Given the description of an element on the screen output the (x, y) to click on. 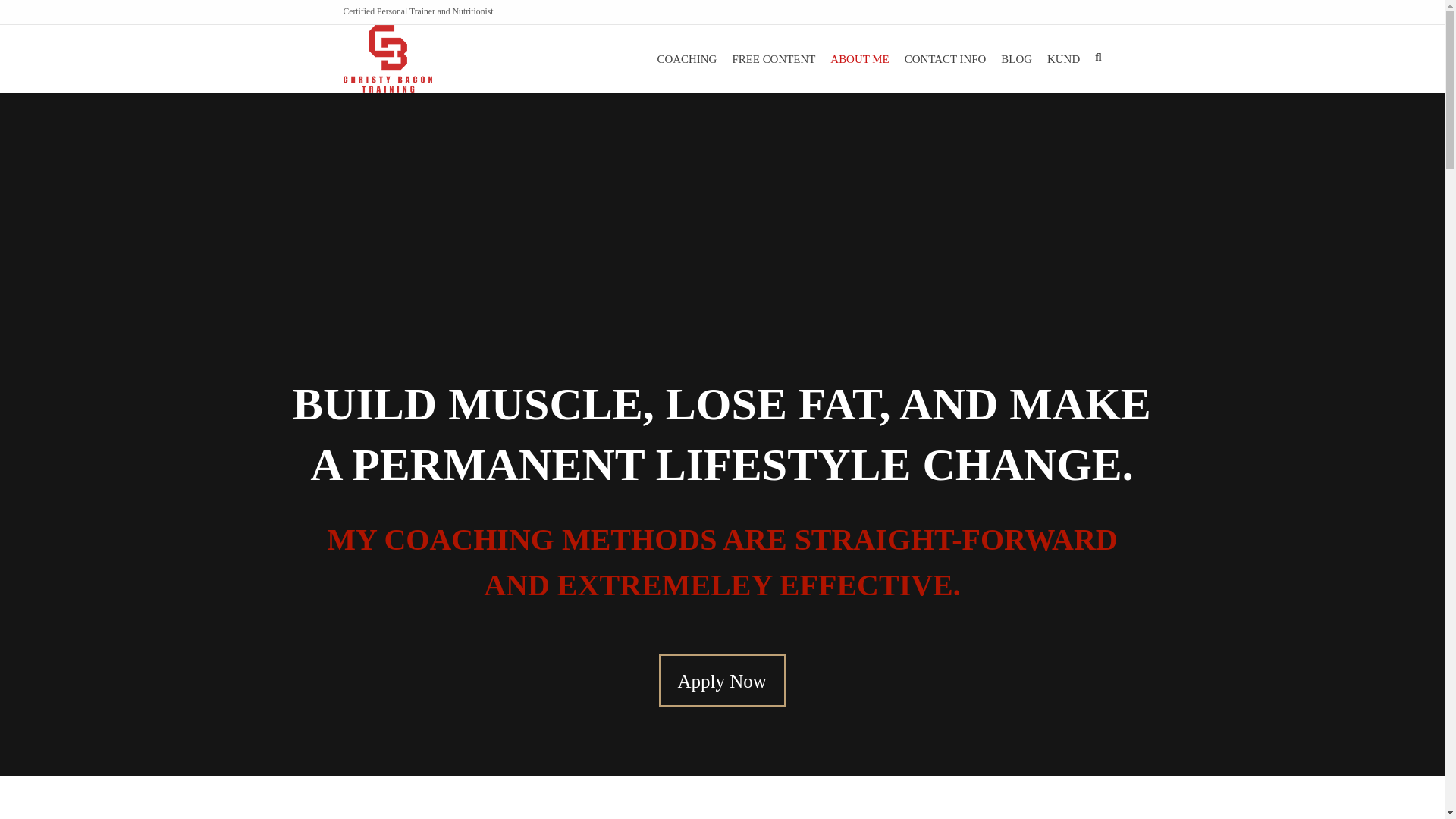
KUND (1063, 59)
COACHING (687, 59)
ABOUT ME (859, 59)
BLOG (1015, 59)
Christy Bacon (387, 58)
CONTACT INFO (945, 59)
Apply Now (721, 680)
FREE CONTENT (772, 59)
